Given the description of an element on the screen output the (x, y) to click on. 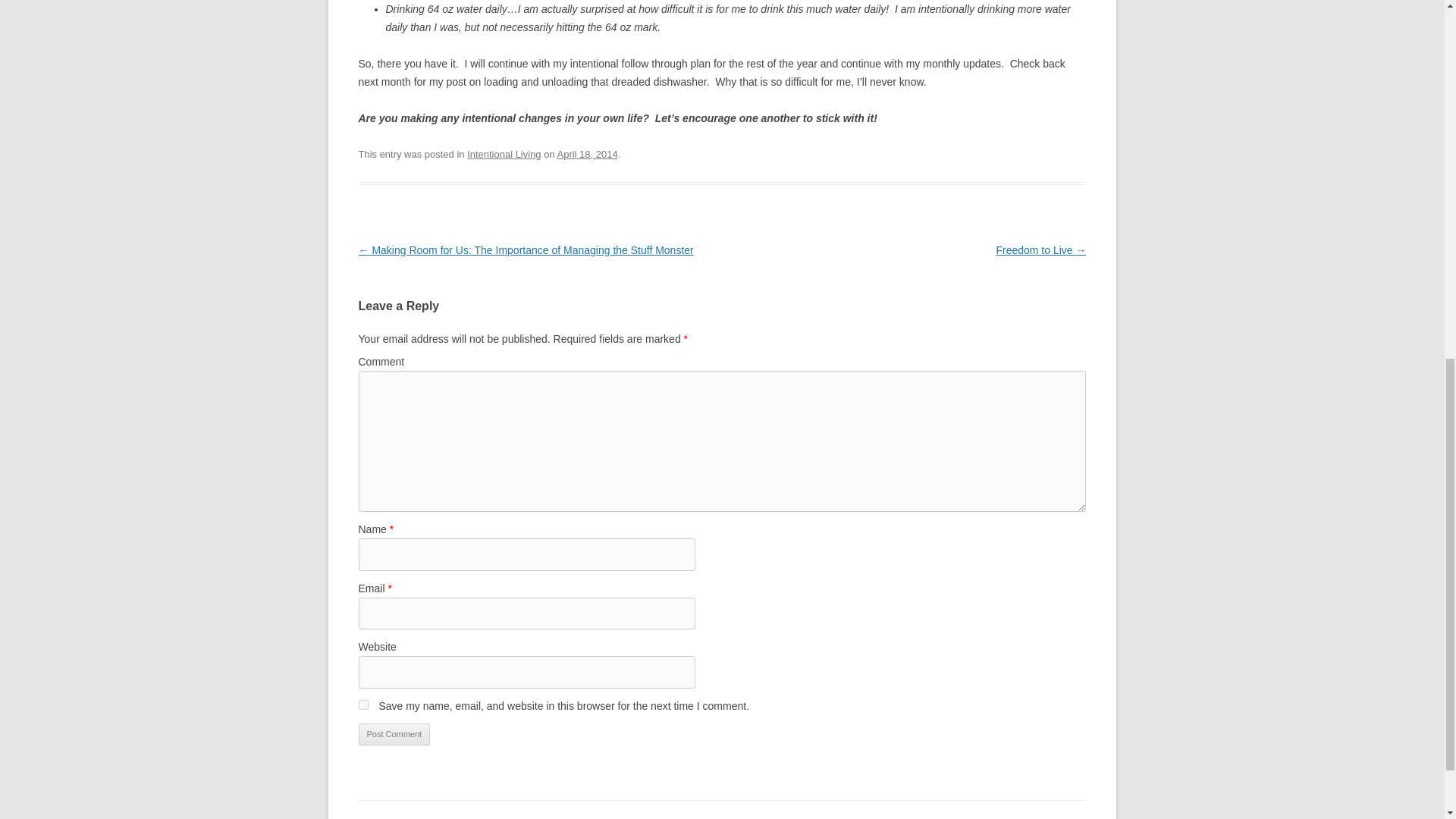
Intentional Living (503, 153)
Post Comment (393, 734)
Post Comment (393, 734)
April 18, 2014 (587, 153)
2:50 am (587, 153)
yes (363, 705)
